Given the description of an element on the screen output the (x, y) to click on. 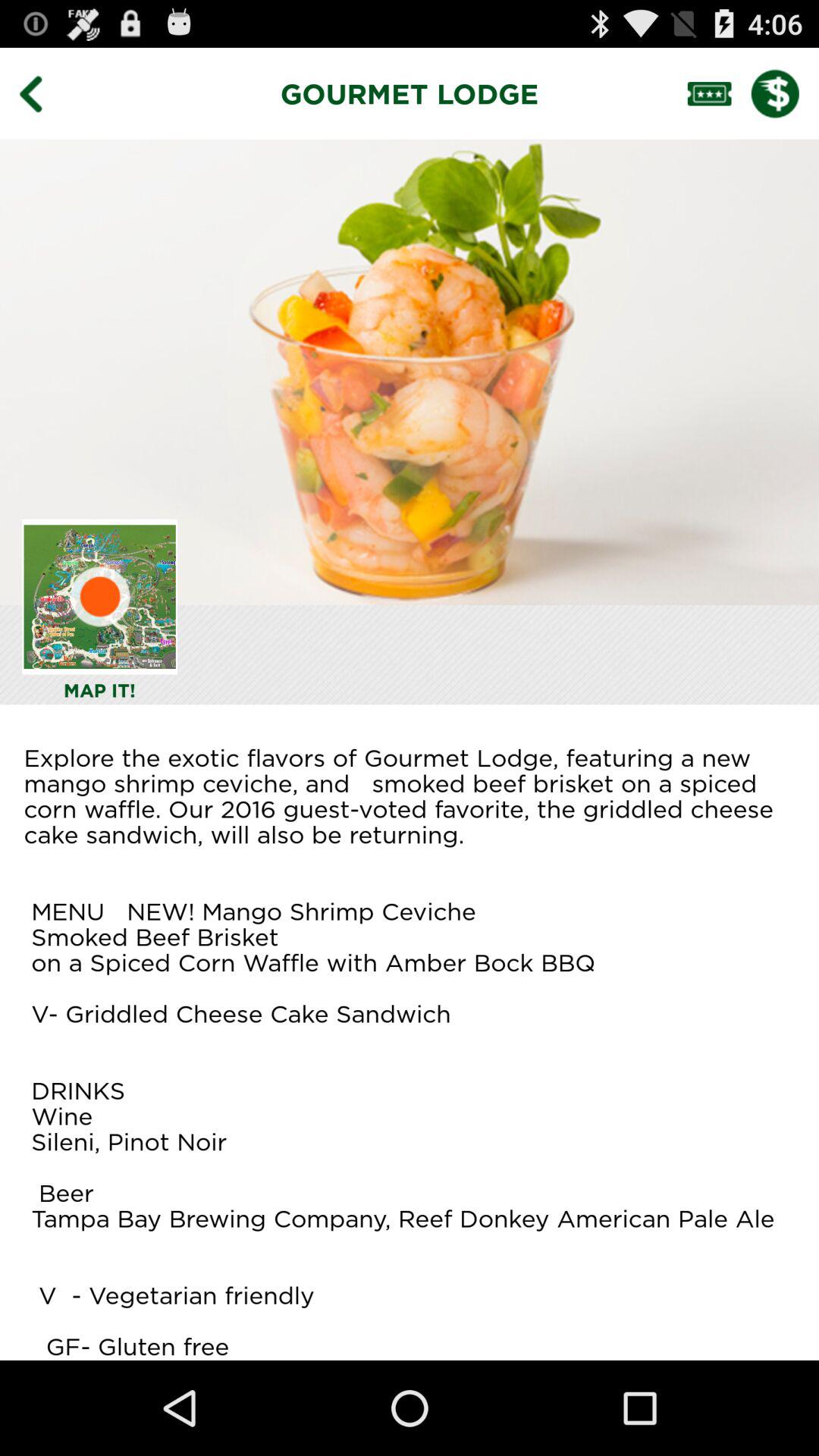
click icon to the left of gourmet lodge item (41, 93)
